Given the description of an element on the screen output the (x, y) to click on. 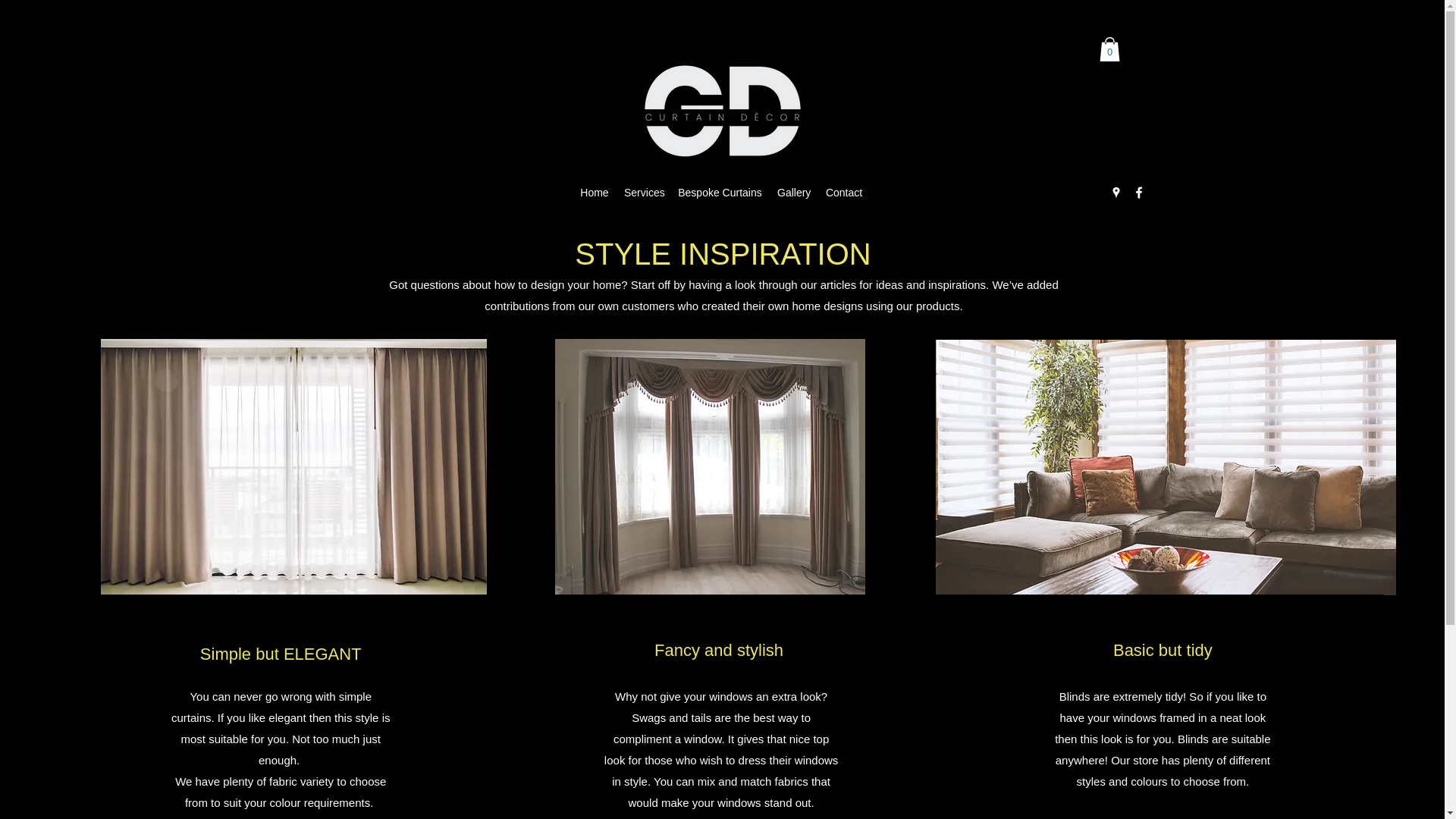
Gallery (793, 191)
Contact (843, 191)
Home (593, 191)
Bespoke Curtains (719, 191)
Services (642, 191)
